Given the description of an element on the screen output the (x, y) to click on. 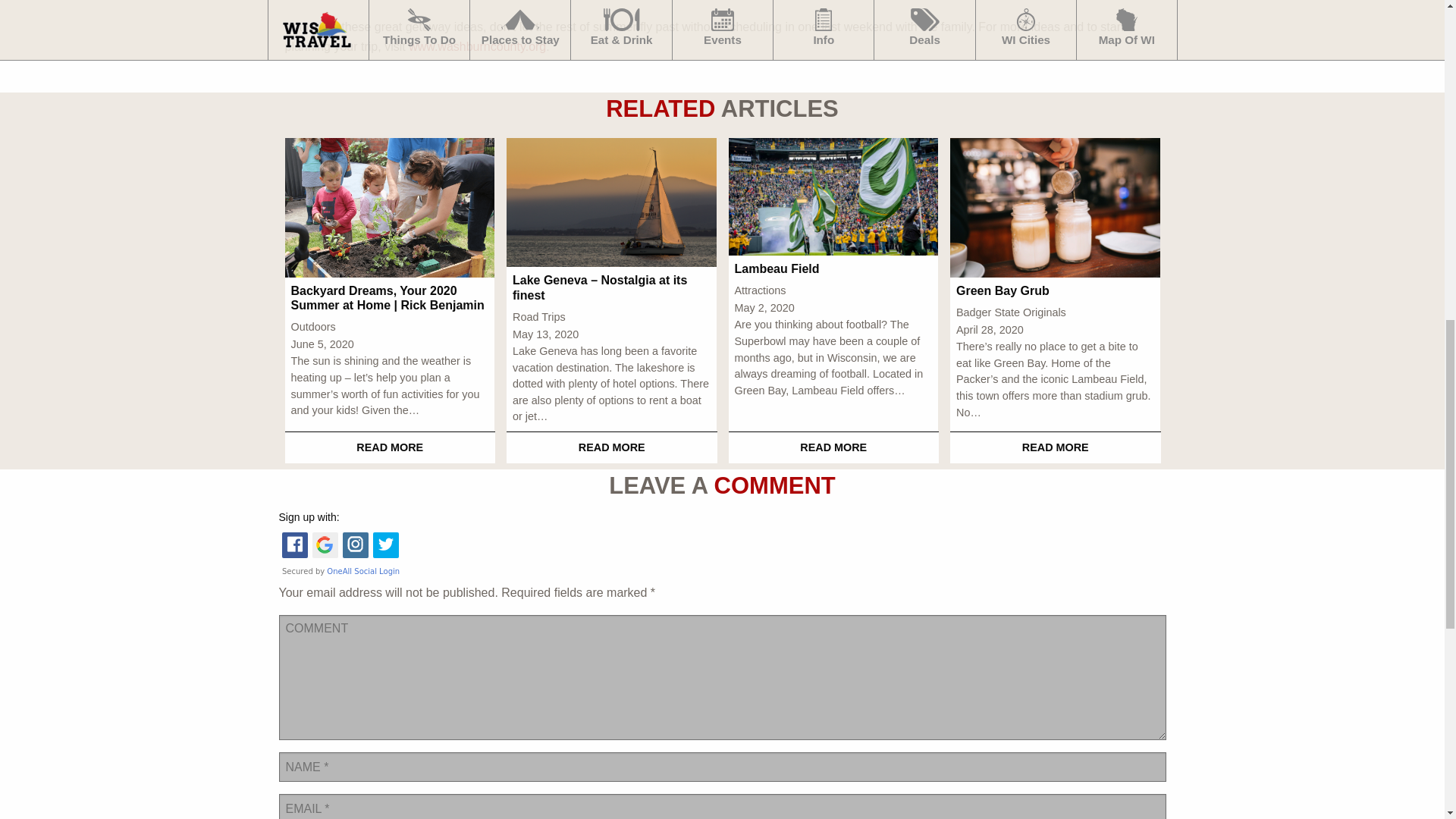
Login with Social Networks (722, 553)
